Given the description of an element on the screen output the (x, y) to click on. 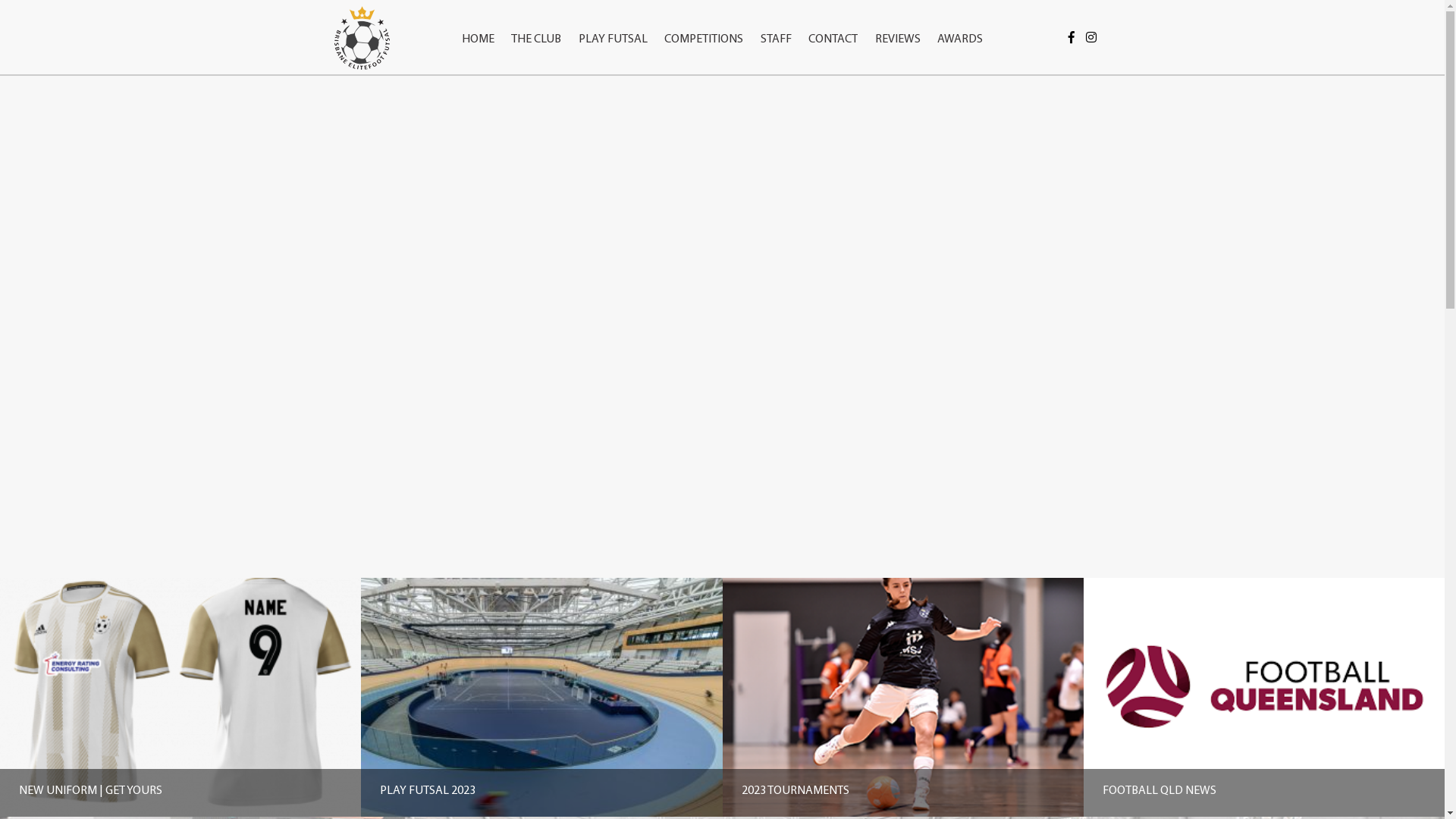
2023 TOURNAMENTS Element type: text (901, 696)
FOOTBALL QLD NEWS Element type: text (1263, 696)
PLAY FUTSAL Element type: text (612, 24)
STAFF Element type: text (775, 24)
HOME Element type: text (478, 24)
THE CLUB Element type: text (535, 24)
AWARDS Element type: text (959, 24)
COMPETITIONS Element type: text (703, 24)
PLAY FUTSAL 2023 Element type: text (540, 696)
NEW UNIFORM | GET YOURS Element type: text (180, 696)
REVIEWS Element type: text (897, 24)
CONTACT Element type: text (832, 24)
